Given the description of an element on the screen output the (x, y) to click on. 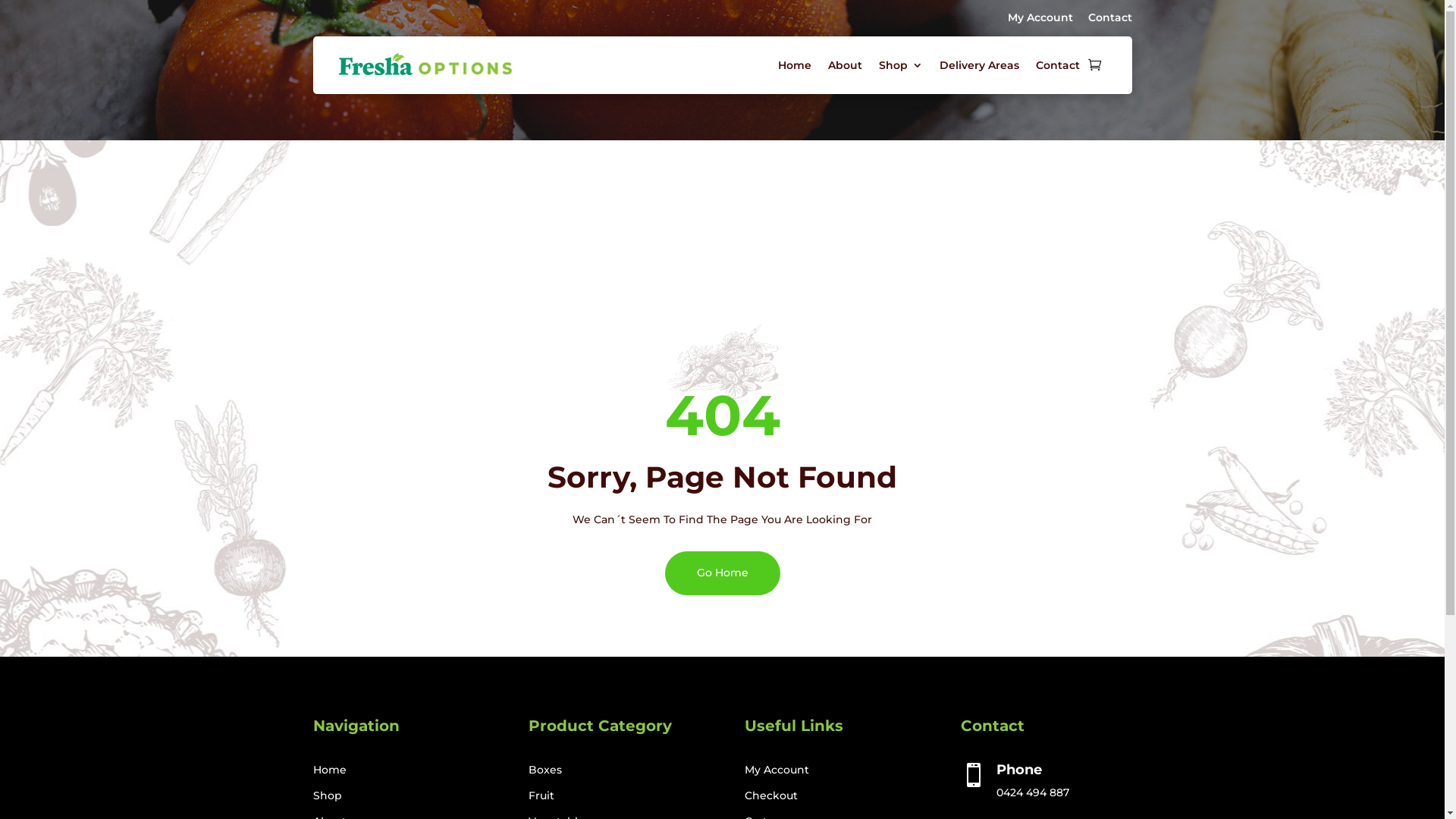
Fruit Element type: text (541, 795)
Checkout Element type: text (770, 795)
Shop Element type: text (326, 795)
About Element type: text (845, 65)
Shop Element type: text (900, 65)
Boxes Element type: text (544, 769)
Home Element type: text (794, 65)
Contact Element type: text (1109, 17)
Home Element type: text (328, 769)
My Account Element type: text (1039, 17)
Phone Element type: text (1018, 769)
My Account Element type: text (776, 769)
Contact Element type: text (1057, 65)
Go Home Element type: text (721, 572)
Delivery Areas Element type: text (978, 65)
